Given the description of an element on the screen output the (x, y) to click on. 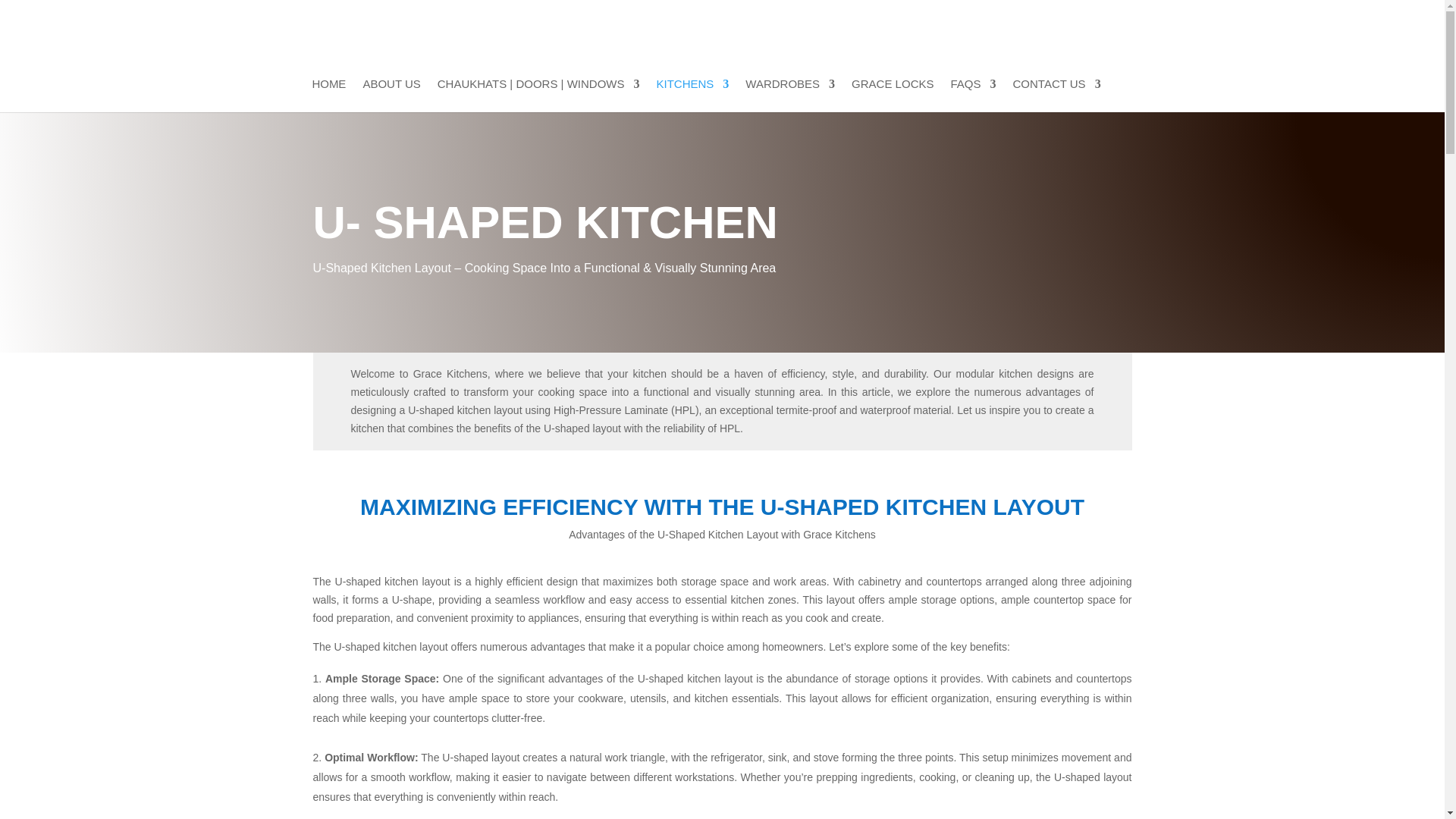
GRACE LOCKS (892, 95)
ABOUT US (391, 95)
KITCHENS (692, 95)
CONTACT US (1056, 95)
FAQS (972, 95)
WARDROBES (789, 95)
HOME (328, 95)
